Given the description of an element on the screen output the (x, y) to click on. 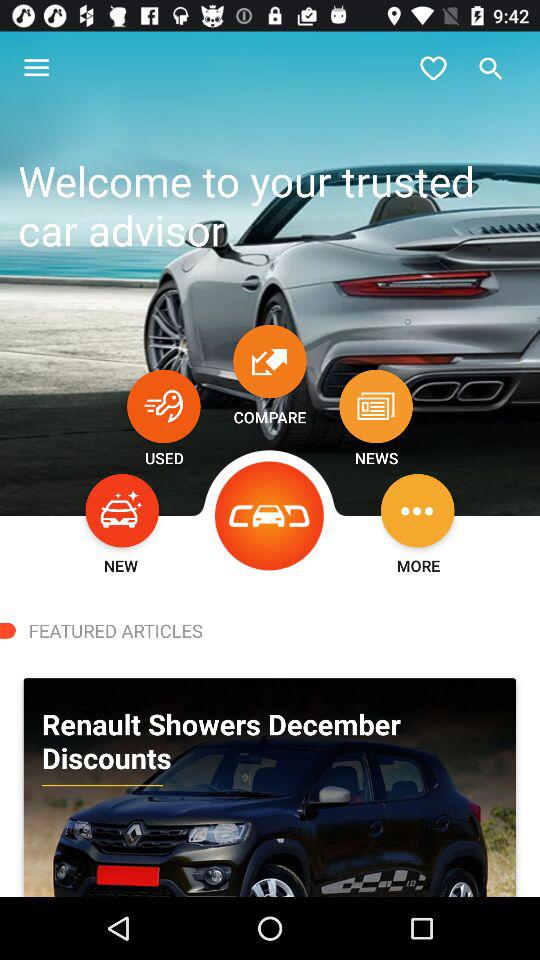
select if used (163, 406)
